Given the description of an element on the screen output the (x, y) to click on. 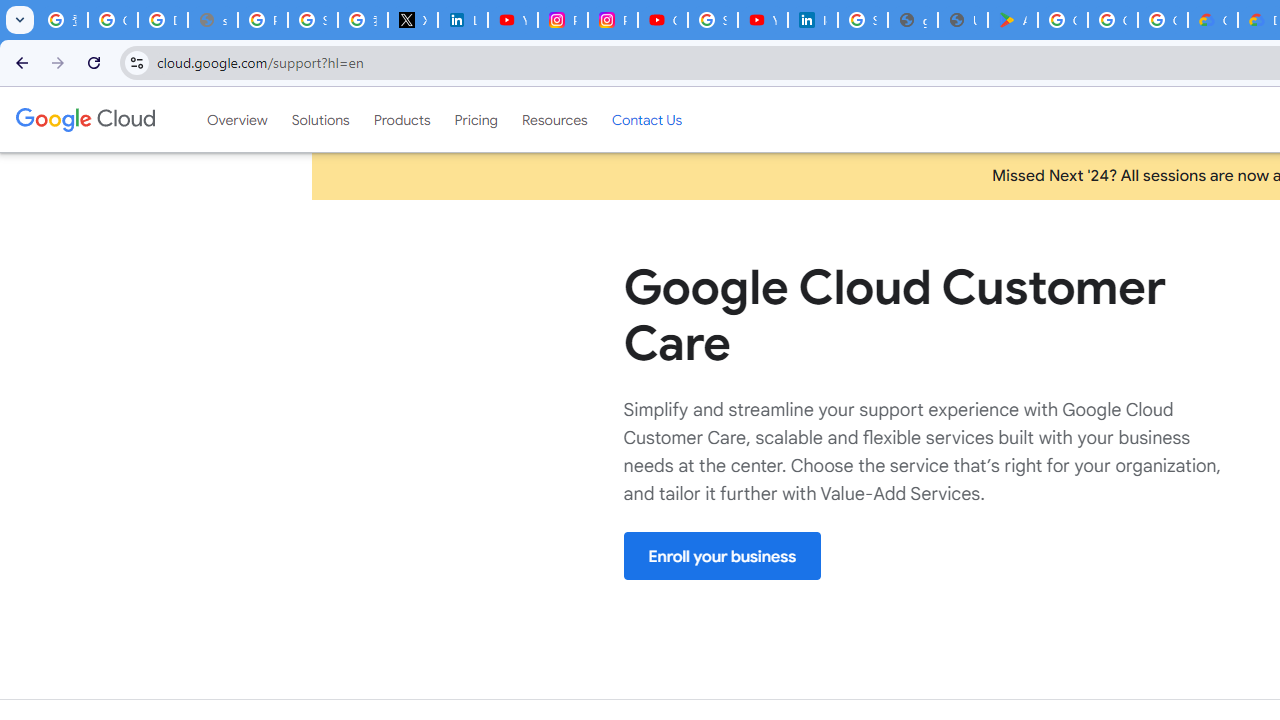
Sign in - Google Accounts (312, 20)
Google Workspace - Specific Terms (1162, 20)
Sign in - Google Accounts (712, 20)
Enroll your business (722, 556)
Solutions (320, 119)
Identity verification via Persona | LinkedIn Help (813, 20)
LinkedIn Privacy Policy (462, 20)
Google Workspace - Specific Terms (1112, 20)
Privacy Help Center - Policies Help (262, 20)
support.google.com - Network error (213, 20)
Customer Care | Google Cloud (1212, 20)
